Given the description of an element on the screen output the (x, y) to click on. 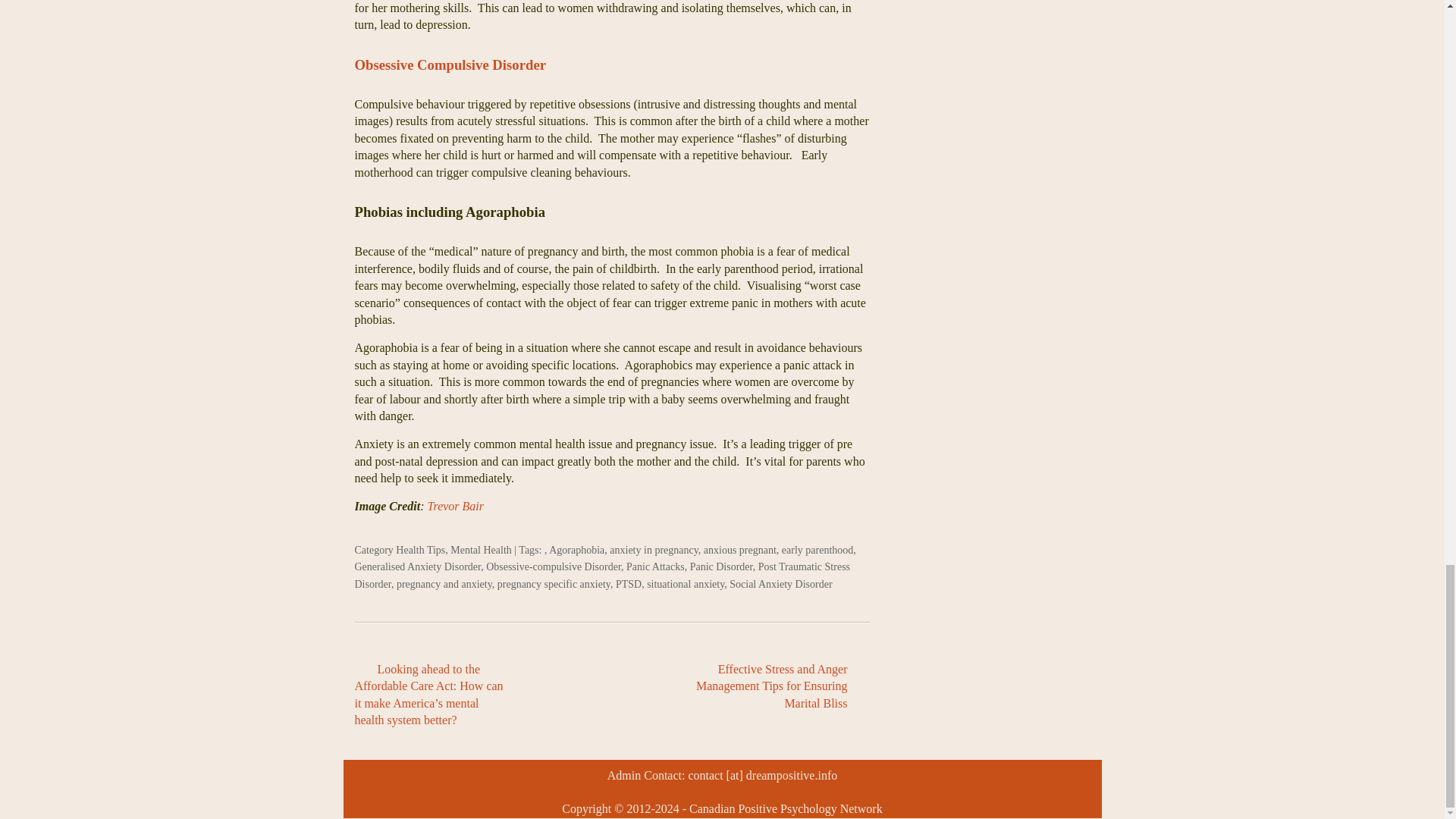
Agoraphobia (576, 550)
PTSD (628, 583)
Mental Health (480, 550)
anxiety in pregnancy (654, 550)
Generalised Anxiety Disorder (418, 566)
early parenthood (817, 550)
Post Traumatic Stress Disorder (602, 574)
Obsessive Compulsive Disorder (451, 64)
situational anxiety (684, 583)
pregnancy and anxiety (444, 583)
Panic Disorder (721, 566)
anxious pregnant (739, 550)
Health Tips (420, 550)
Panic Attacks (655, 566)
